Given the description of an element on the screen output the (x, y) to click on. 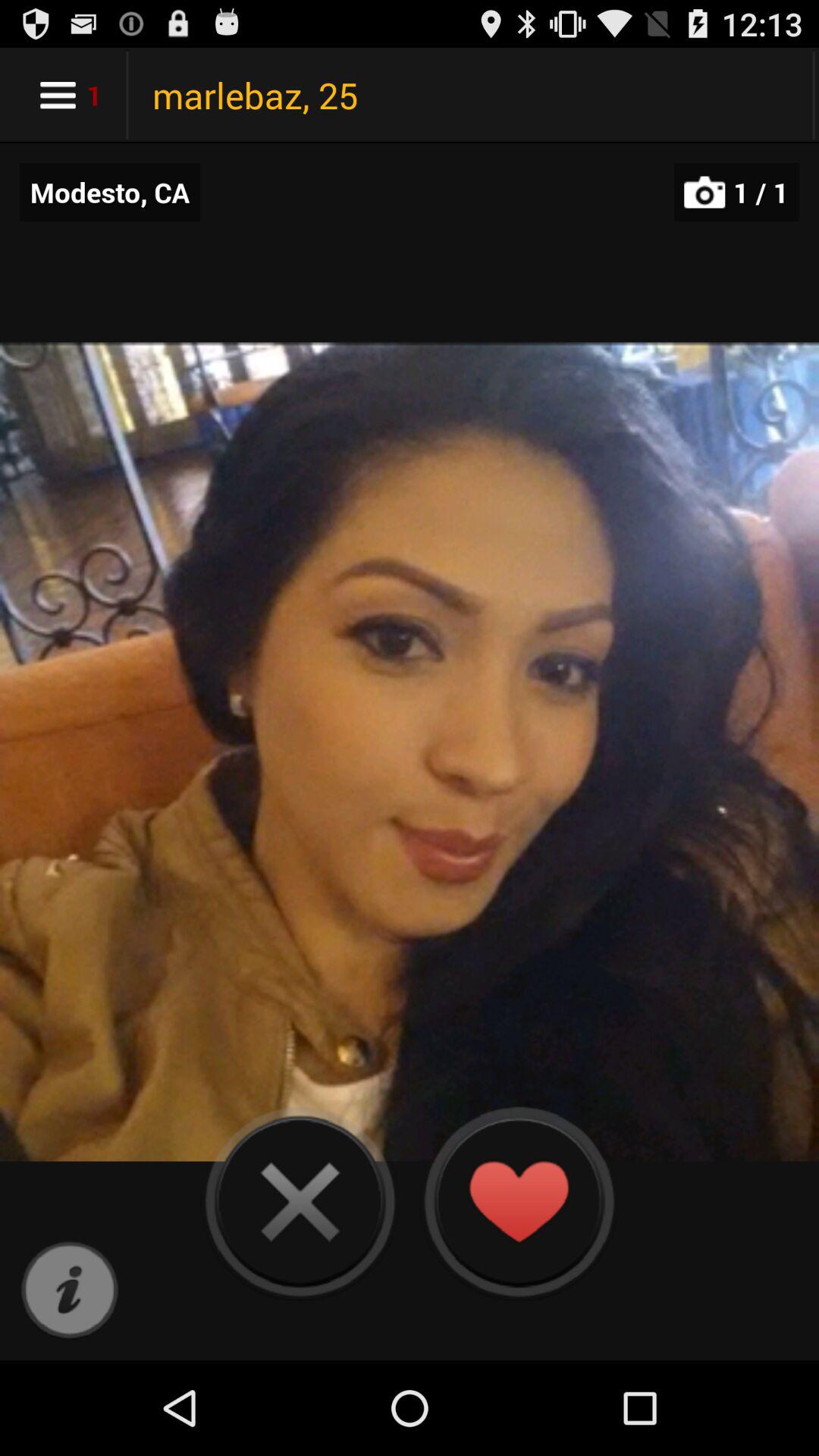
click heart to love (518, 1200)
